Given the description of an element on the screen output the (x, y) to click on. 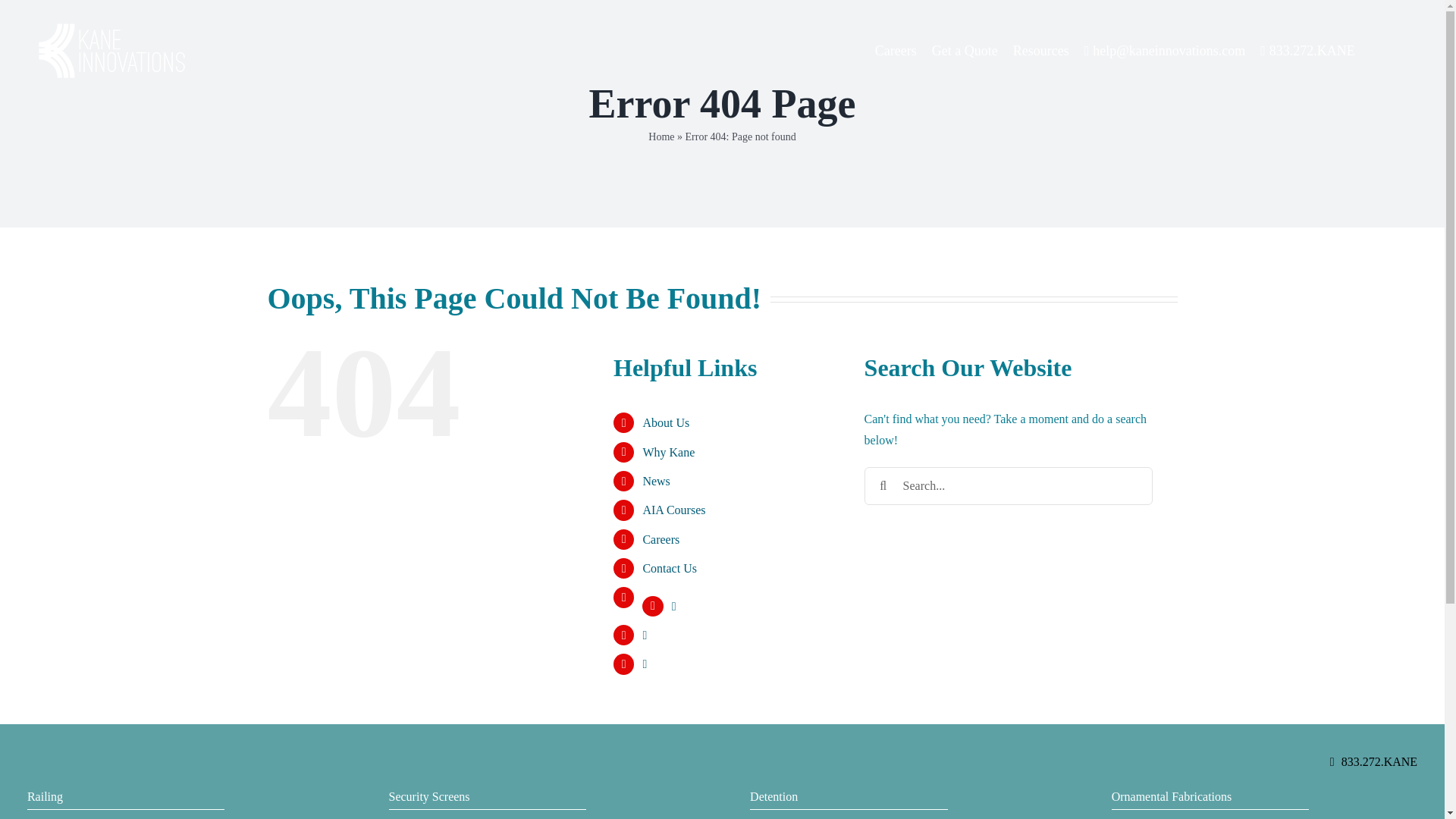
833.272.KANE (1378, 761)
Products (487, 816)
Why Kane (668, 451)
Careers (896, 51)
AIA Courses (673, 509)
About Us (665, 422)
Contact Us (669, 567)
833.272.KANE (1307, 51)
Careers (660, 539)
Get a Quote (964, 51)
Products (125, 816)
Products (1210, 816)
Products (848, 816)
Resources (1040, 51)
Home (660, 136)
